Given the description of an element on the screen output the (x, y) to click on. 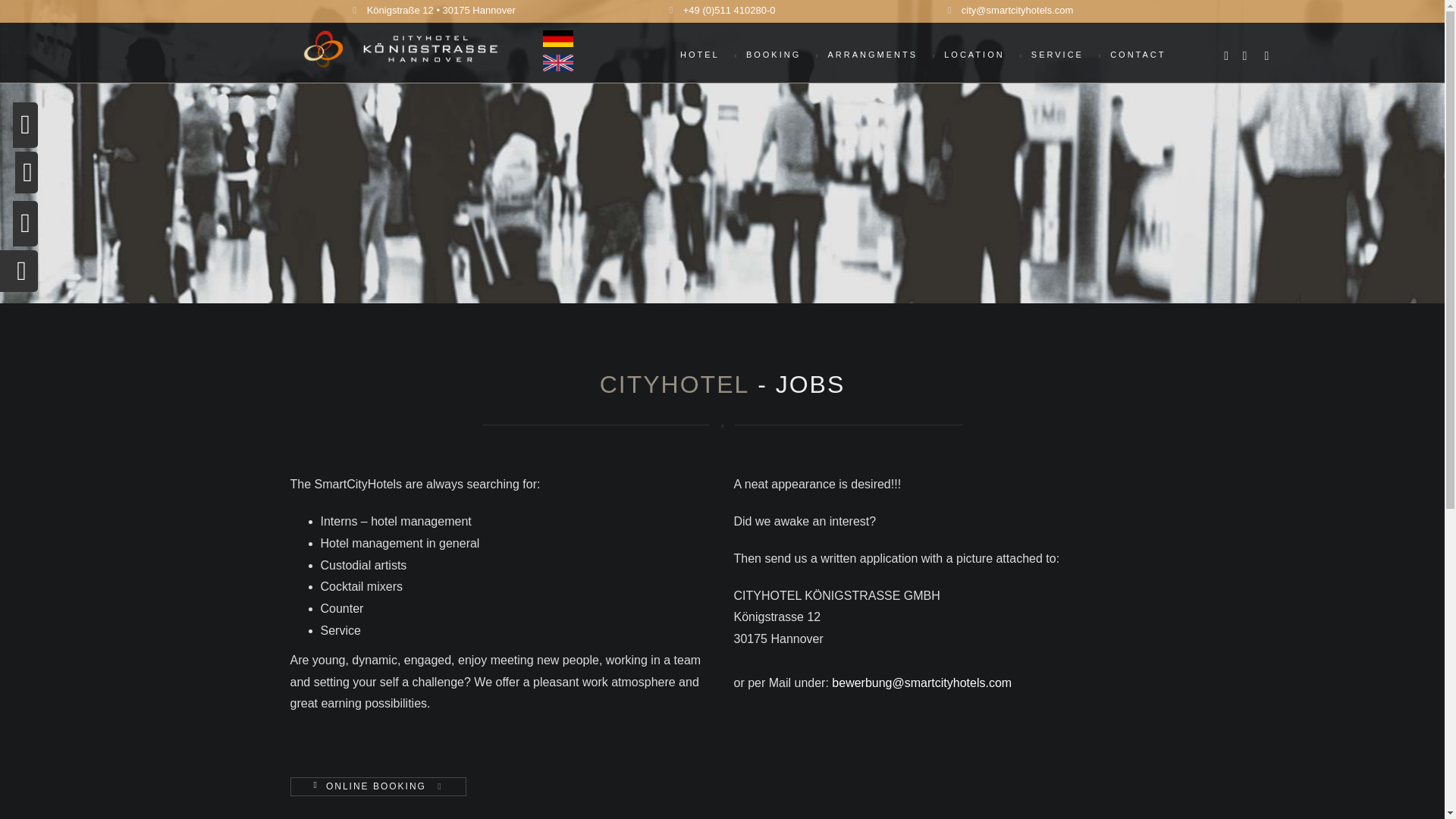
ONLINE BOOKING (376, 786)
HOTEL (705, 49)
BOOKING (779, 49)
SERVICE (1062, 49)
LOCATION (979, 49)
CONTACT (1134, 49)
ARRANGMENTS (877, 49)
